Given the description of an element on the screen output the (x, y) to click on. 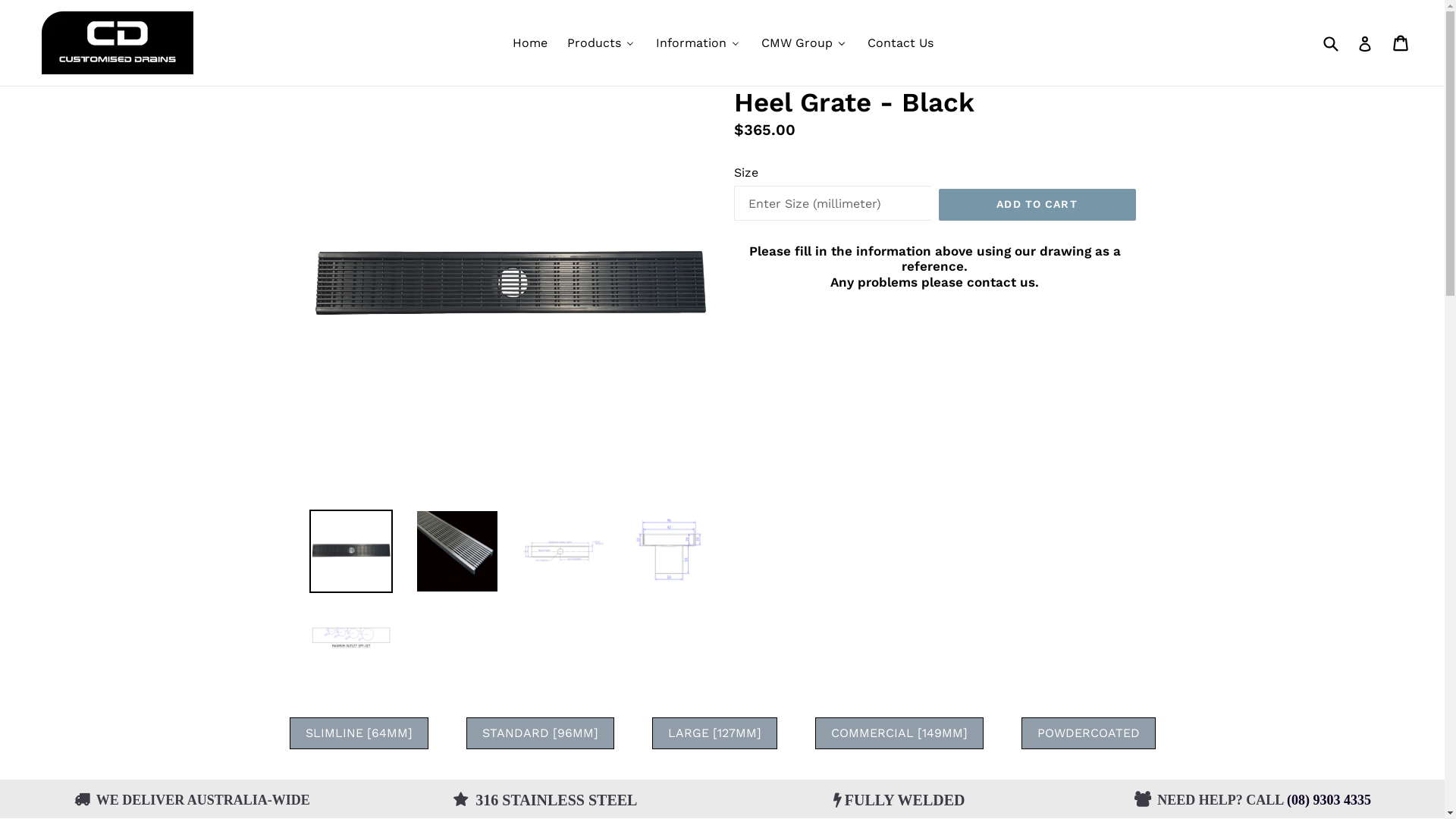
POWDERCOATED Element type: text (1087, 733)
Cart
Cart Element type: text (1401, 42)
Home Element type: text (529, 42)
ADD TO CART Element type: text (1036, 204)
CMW Group Element type: text (803, 42)
Log in Element type: text (1364, 42)
Contact Us Element type: text (899, 42)
Submit Element type: text (1329, 42)
SLIMLINE [64MM] Element type: text (358, 733)
Products Element type: text (600, 42)
STANDARD [96MM] Element type: text (539, 733)
Information Element type: text (697, 42)
COMMERCIAL [149MM] Element type: text (898, 733)
LARGE [127MM] Element type: text (714, 733)
